Given the description of an element on the screen output the (x, y) to click on. 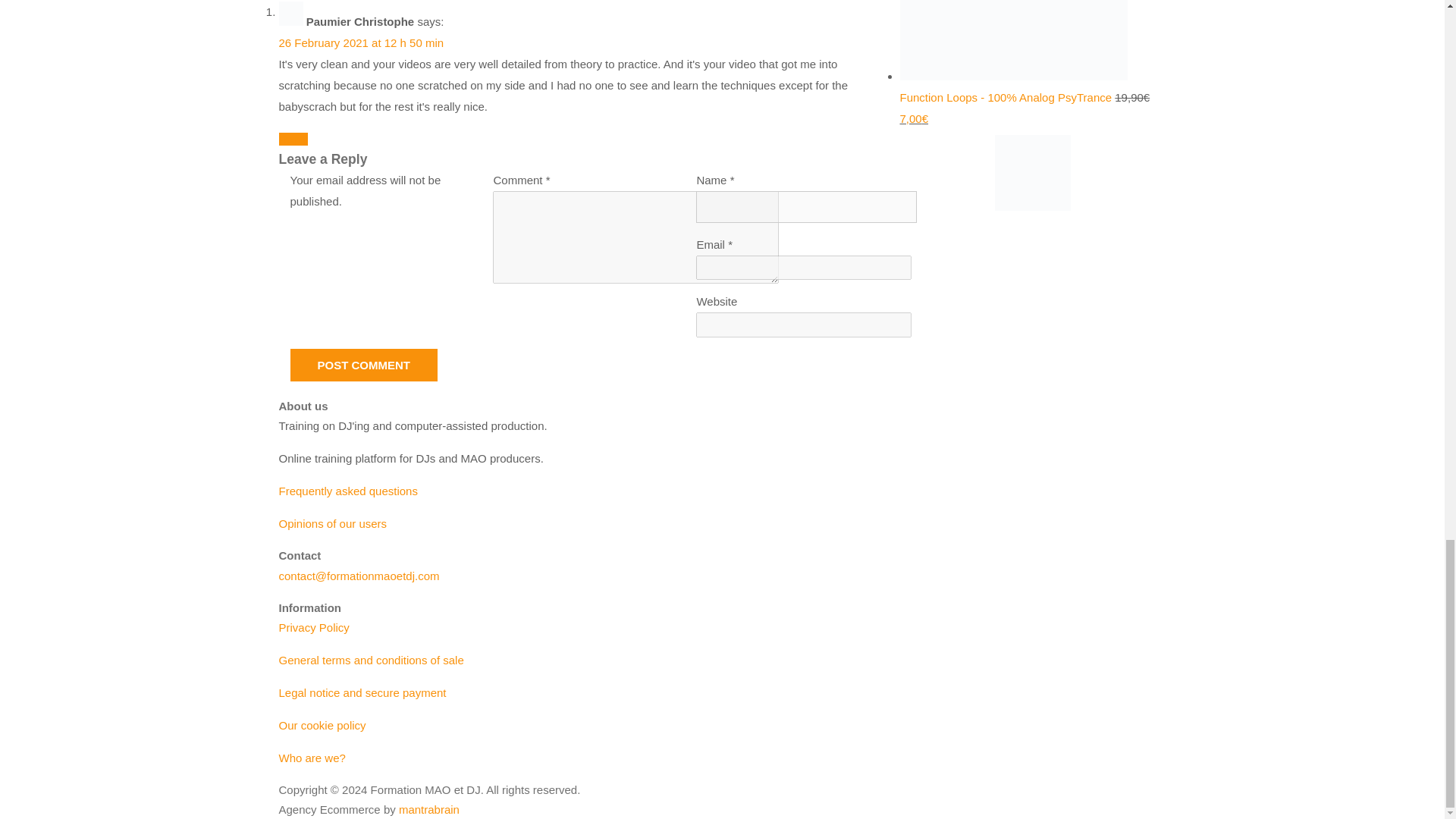
Post Comment (363, 364)
